Given the description of an element on the screen output the (x, y) to click on. 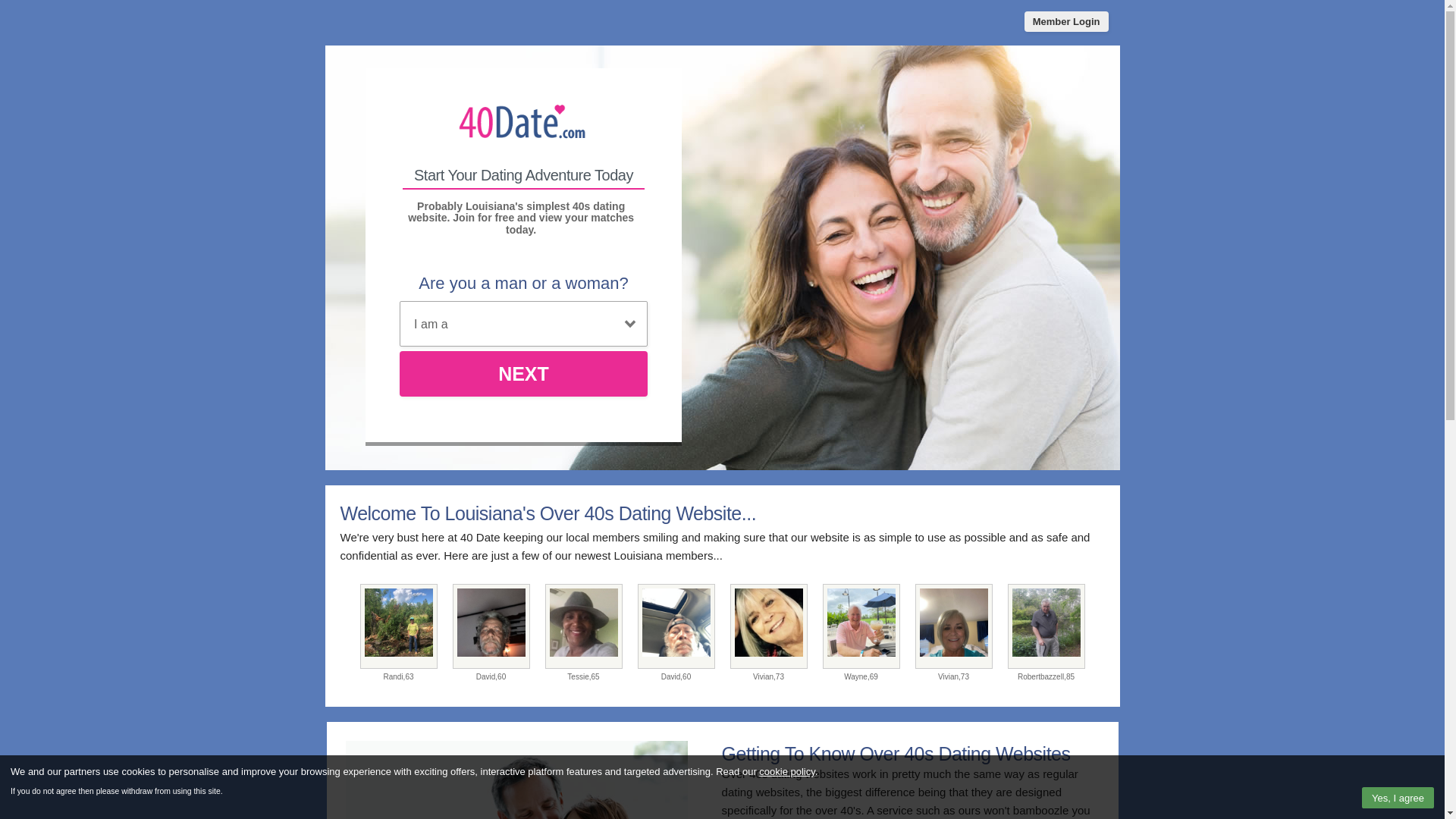
Member Login Element type: text (1066, 21)
Wayne, 69 from Mandeville, LA Element type: hover (860, 625)
David, 60 from Eunice, LA Element type: hover (675, 625)
cookie policy Element type: text (786, 771)
Vivian, 73 from Winnsboro, LA Element type: hover (767, 625)
Over 40 Dating - .co.uk Element type: hover (523, 122)
NEXT Element type: text (523, 373)
Robertbazzell, 85 from Shreveport, LA Element type: hover (1045, 625)
Randi, 63 from Lake Charles, LA Element type: hover (397, 625)
Tessie, 65 from Westwego, LA Element type: hover (582, 625)
David, 60 from Eunice, LA Element type: hover (490, 625)
Yes, I agree Element type: text (1397, 797)
Vivian, 73 from Winnsboro, LA Element type: hover (952, 625)
